Given the description of an element on the screen output the (x, y) to click on. 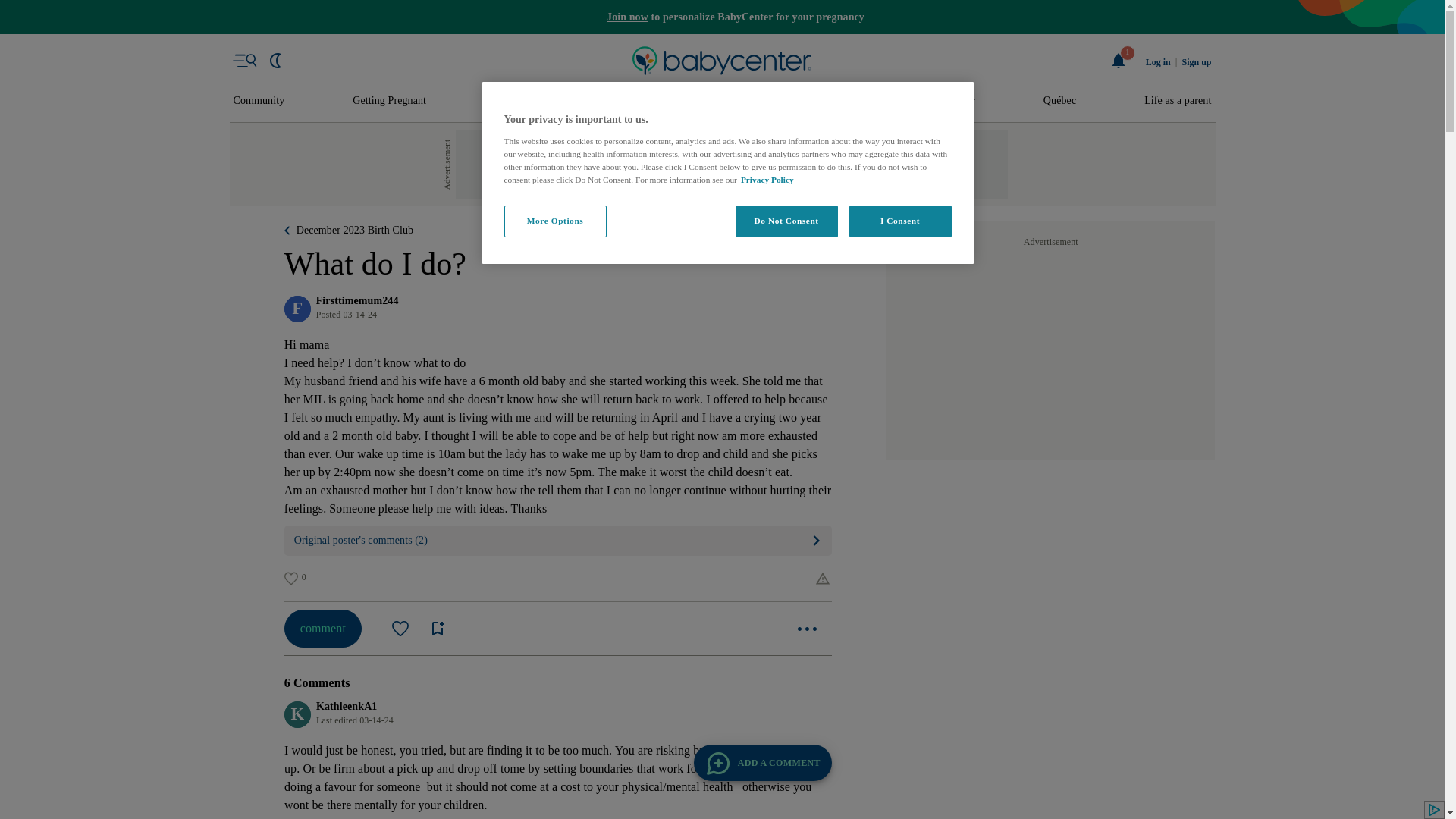
Toddler (839, 101)
Baby Names (635, 101)
Getting Pregnant (389, 101)
Sign up (1195, 61)
Preschooler (949, 101)
Log in (1157, 61)
Life as a parent (1177, 101)
1 (1118, 60)
Pregnancy (517, 101)
Community (258, 101)
Baby (743, 101)
